Given the description of an element on the screen output the (x, y) to click on. 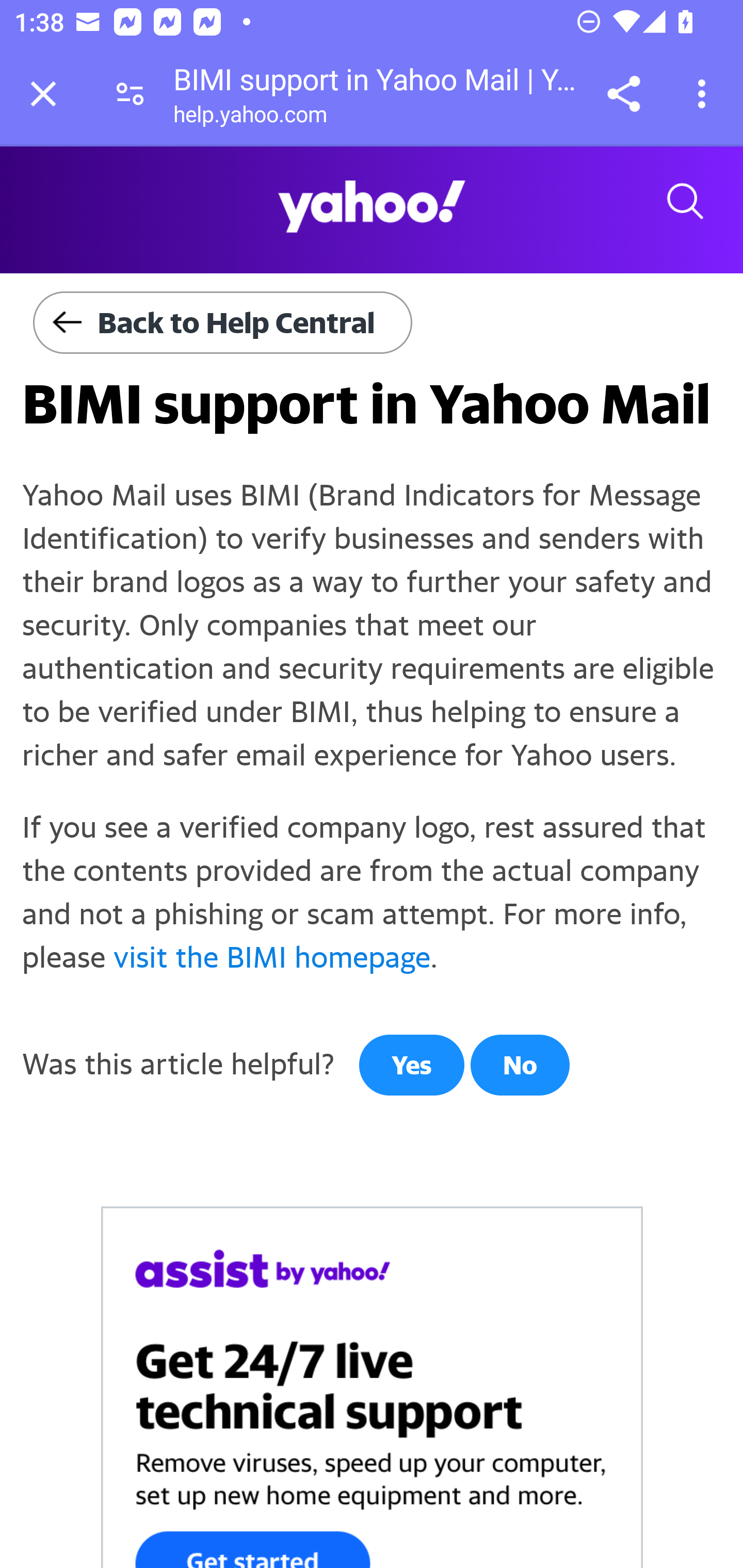
Close tab (43, 93)
Share (623, 93)
Customize and control Google Chrome (705, 93)
Connection is secure (129, 93)
help.yahoo.com (249, 117)
help (371, 207)
Back to Help Central (222, 322)
visit the BIMI homepage (271, 957)
Yes (411, 1065)
No (519, 1065)
CTA-button (372, 1386)
